Given the description of an element on the screen output the (x, y) to click on. 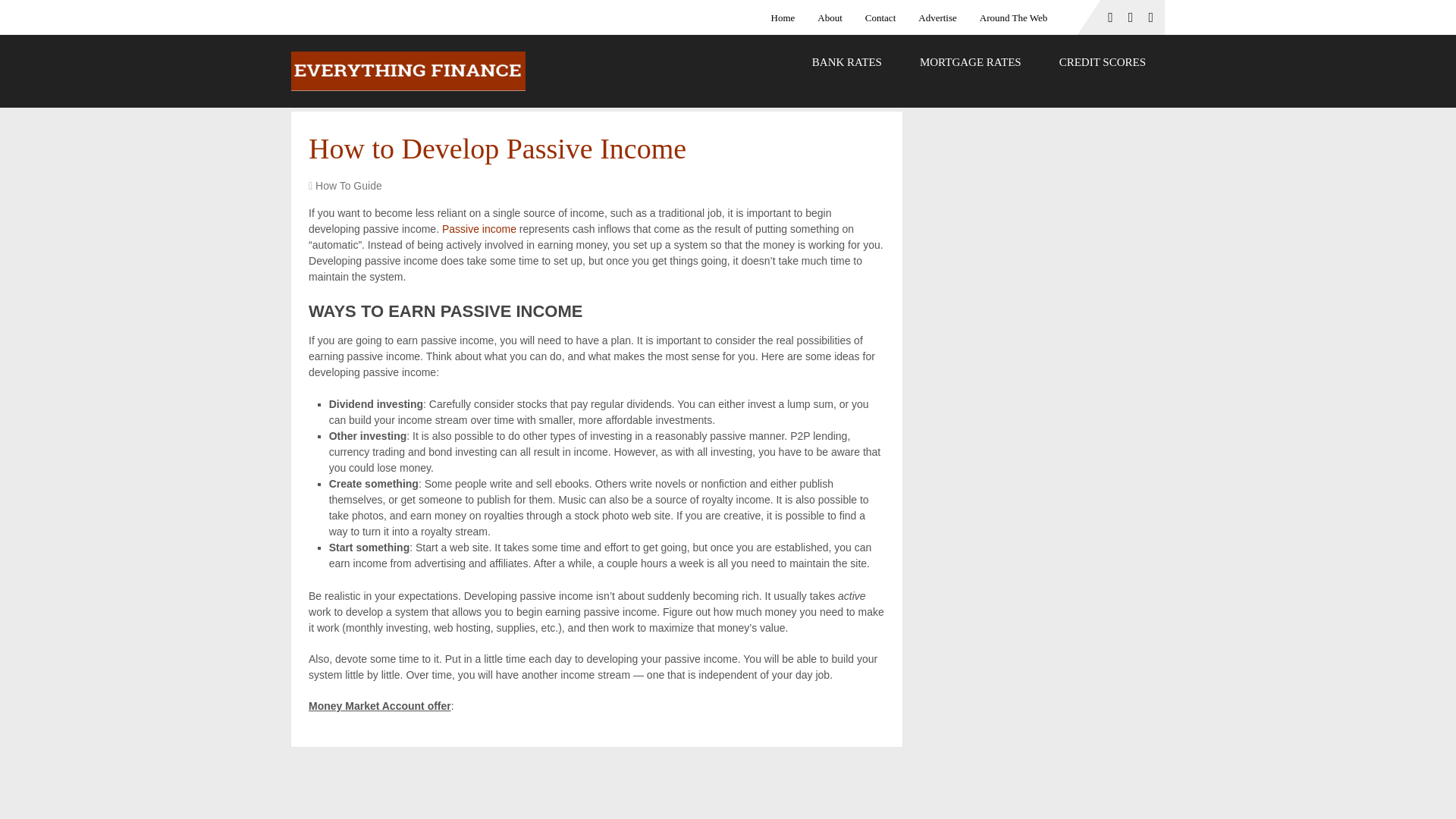
Home (788, 17)
View all posts in How To Guide (348, 185)
CREDIT SCORES (1102, 62)
BANK RATES (847, 62)
Around The Web (1013, 17)
How To Guide (348, 185)
About (829, 17)
MORTGAGE RATES (971, 62)
Advertise (937, 17)
Contact (880, 17)
